Given the description of an element on the screen output the (x, y) to click on. 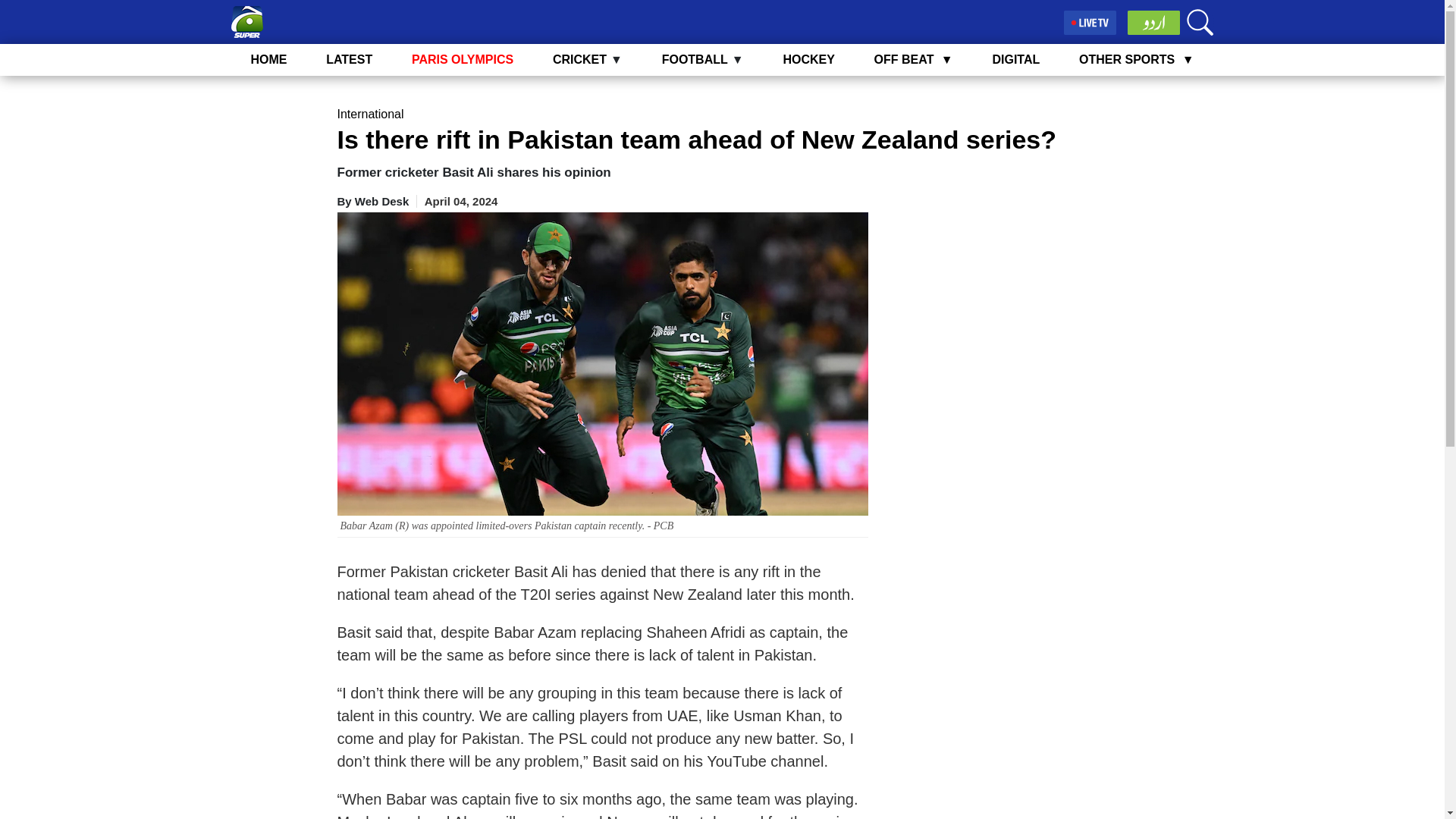
PARIS OLYMPICS (462, 59)
FOOTBALL (695, 59)
HOCKEY (808, 59)
CRICKET (580, 59)
LATEST (349, 59)
HOME (268, 59)
International (369, 113)
Search (1199, 22)
DIGITAL (1015, 59)
